Given the description of an element on the screen output the (x, y) to click on. 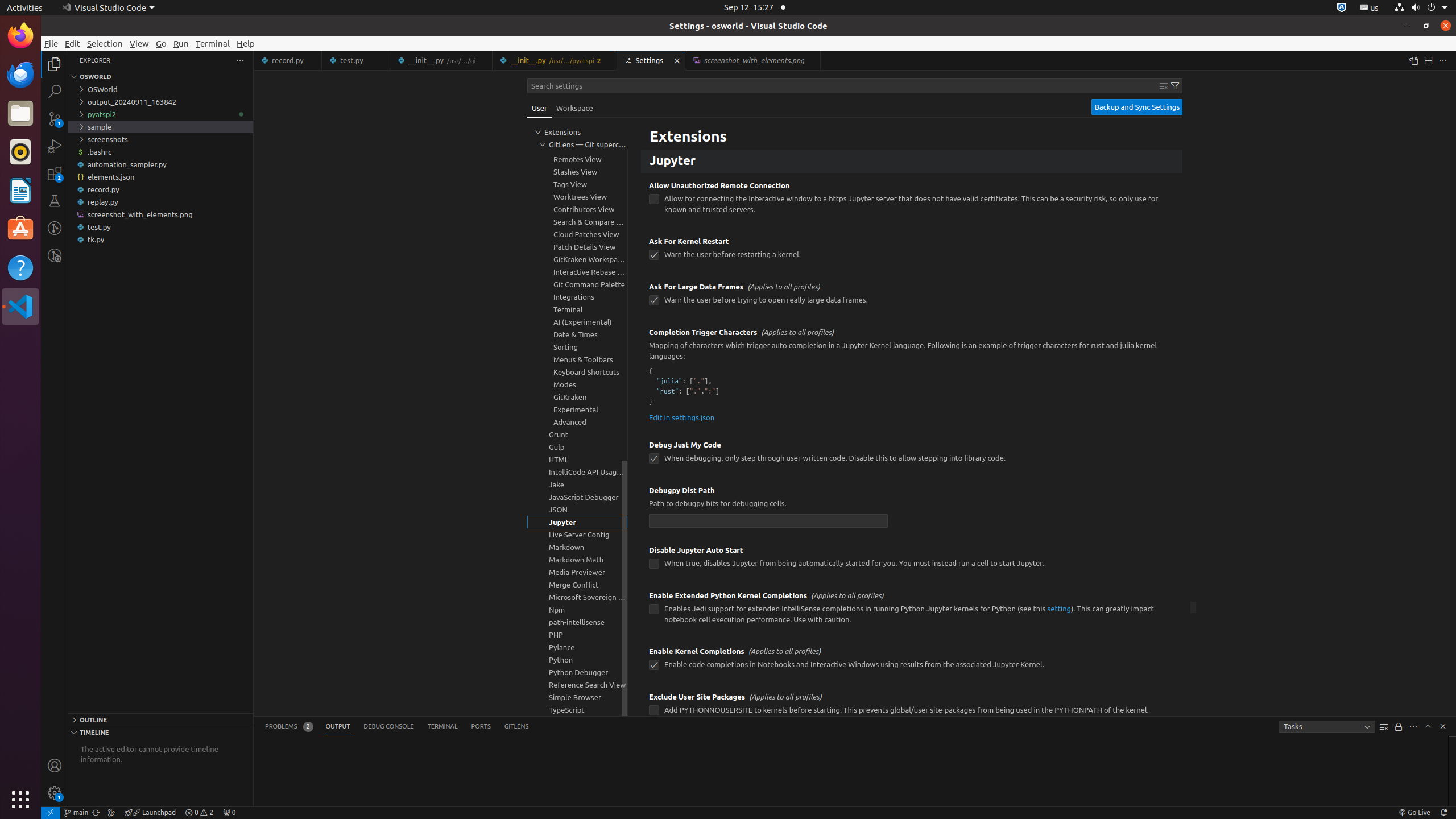
Problems (Ctrl+Shift+M) - Total 2 Problems Element type: page-tab (288, 726)
 Exclude User Site Packages. Setting value retained when switching profiles. Add PYTHONNOUSERSITE to kernels before starting. This prevents global/user site-packages from being used in the PYTHONPATH of the kernel.  Element type: tree-item (911, 707)
More Actions... Element type: push-button (1442, 60)
Source Control (Ctrl+Shift+G G) - 1 pending changes Source Control (Ctrl+Shift+G G) - 1 pending changes Element type: page-tab (54, 118)
 Disable Jupyter Auto Start. When true, disables Jupyter from being automatically started for you. You must instead run a cell to start Jupyter.  Element type: tree-item (911, 560)
